Given the description of an element on the screen output the (x, y) to click on. 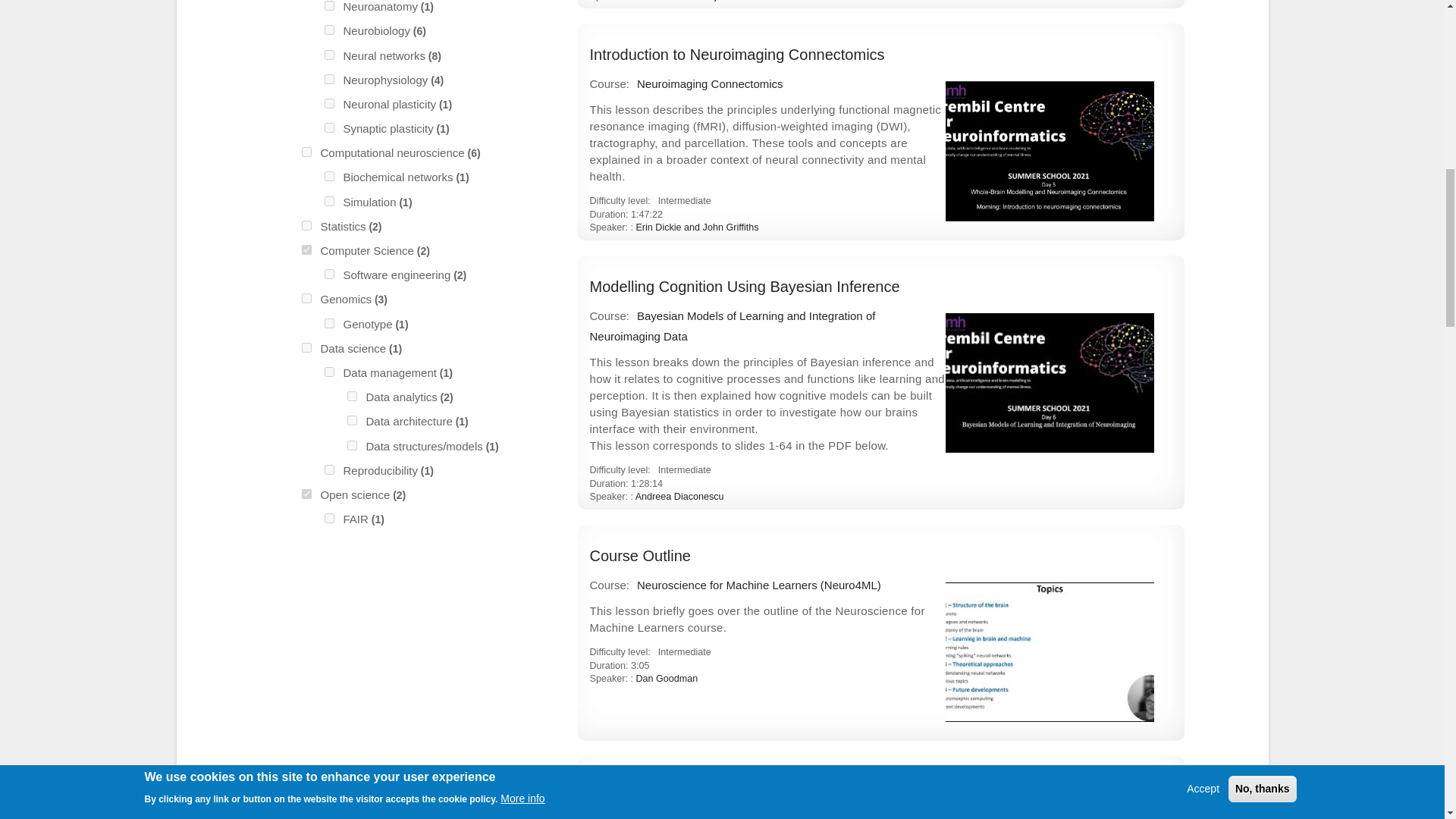
Erin Dickie and Sejal Patel (691, 0)
